Given the description of an element on the screen output the (x, y) to click on. 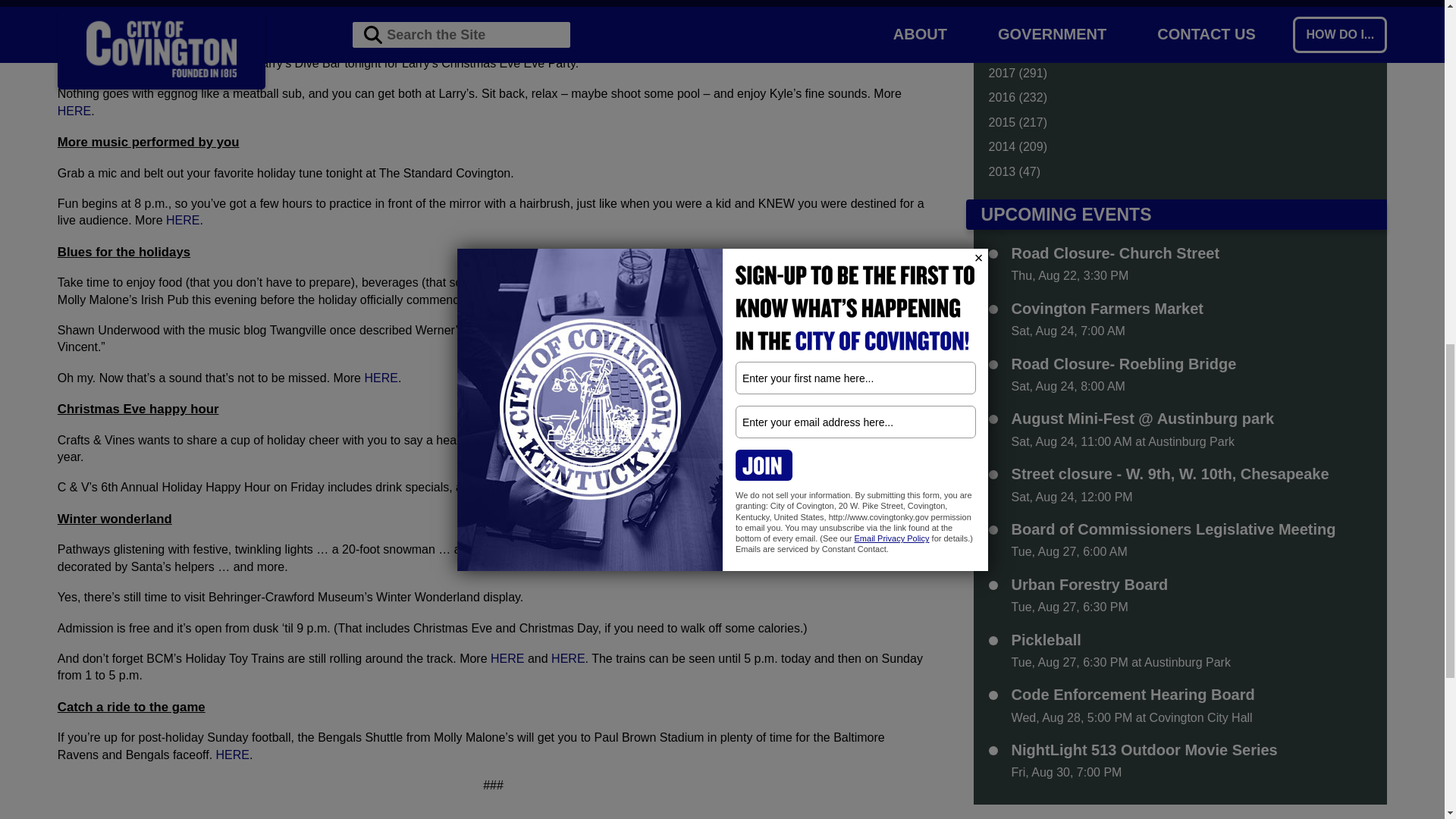
HERE (767, 3)
HERE (507, 658)
HERE (568, 658)
HERE (231, 754)
HERE (182, 219)
HERE (759, 486)
HERE (74, 110)
HERE (380, 377)
